Given the description of an element on the screen output the (x, y) to click on. 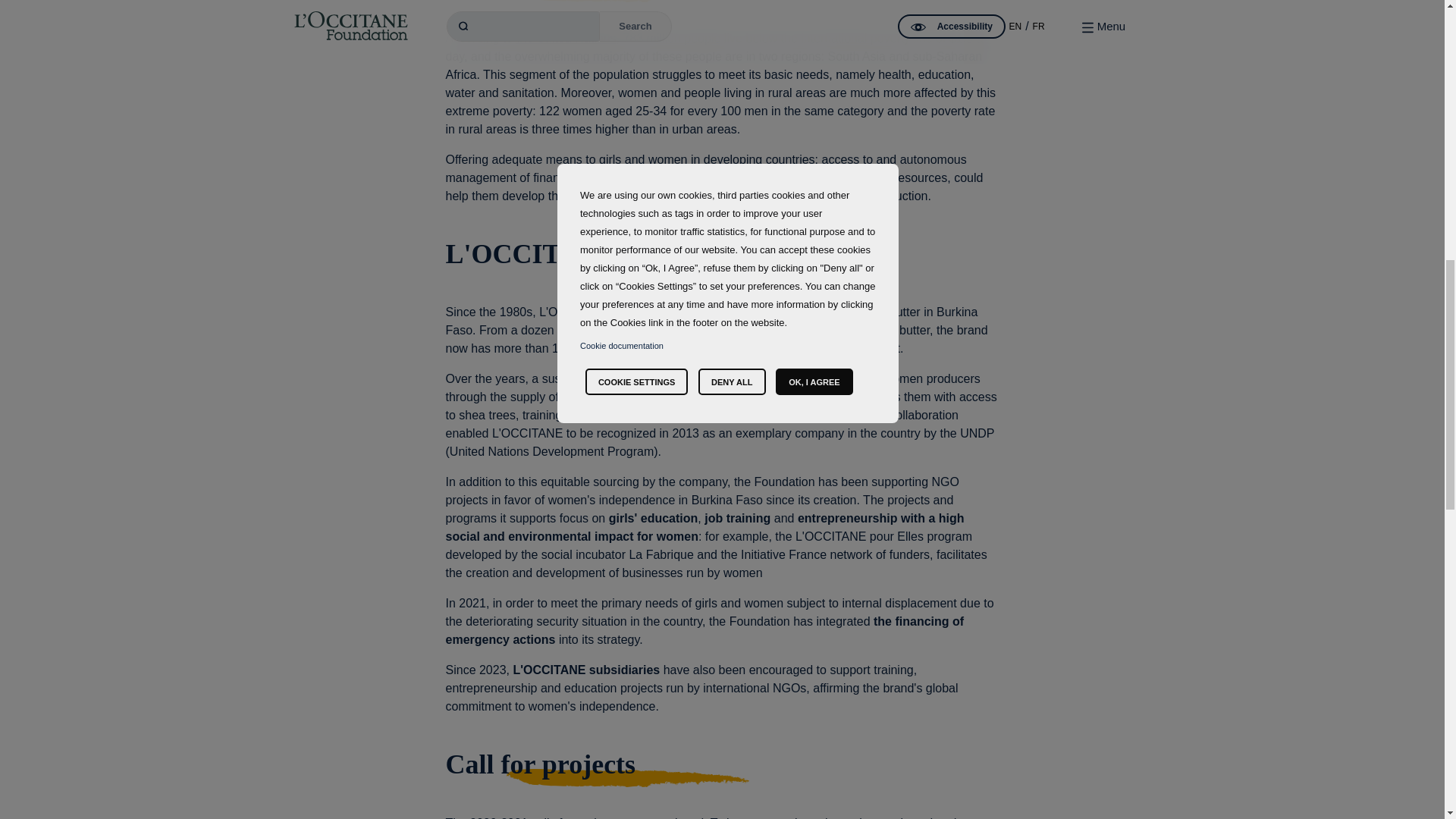
the United Nations (565, 38)
